Given the description of an element on the screen output the (x, y) to click on. 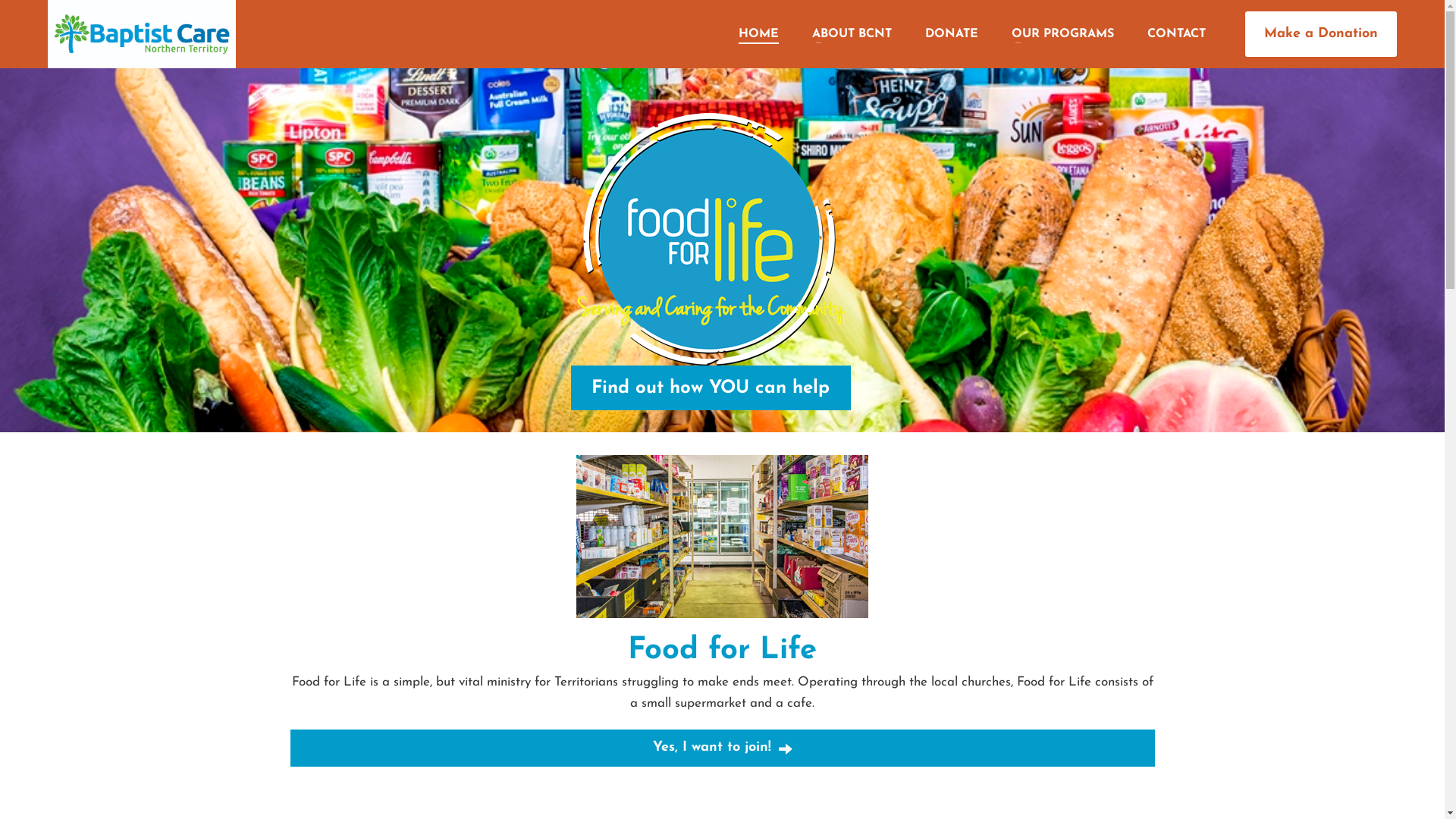
Food for life logo VECTOR ROUND with tagline Element type: hover (710, 238)
ABOUT BCNT Element type: text (851, 33)
MAIN-FOODFORLIFE2 Element type: hover (722, 536)
CONTACT Element type: text (1176, 33)
OUR PROGRAMS Element type: text (1062, 33)
Baptist Care Northern Territory Element type: hover (141, 34)
Yes, I want to join! Element type: text (721, 747)
DONATE Element type: text (951, 33)
Find out how YOU can help Element type: text (711, 388)
Make a Donation Element type: text (1320, 34)
HOME Element type: text (758, 33)
